Given the description of an element on the screen output the (x, y) to click on. 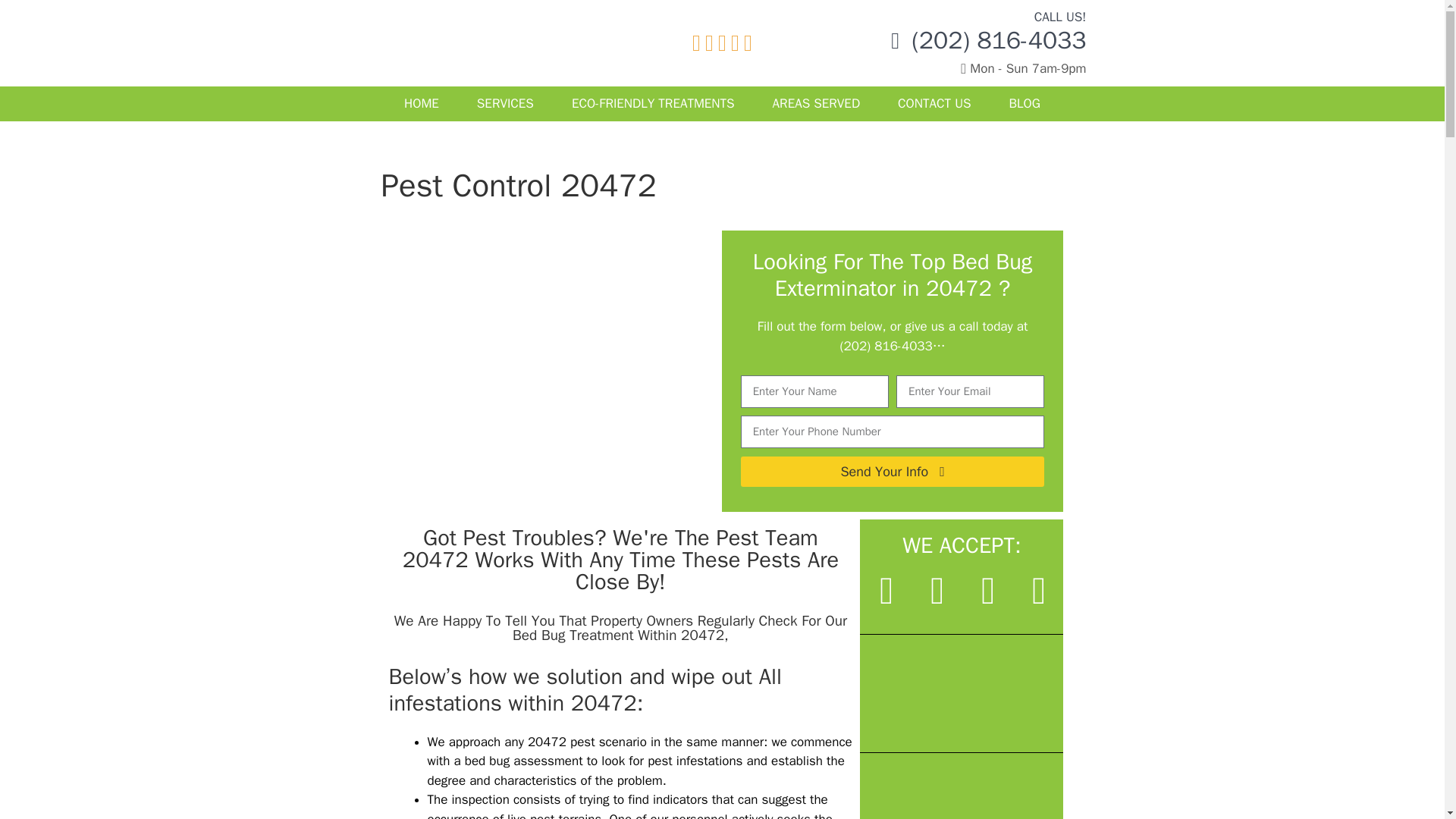
HOME (421, 103)
ECO-FRIENDLY TREATMENTS (653, 103)
SERVICES (505, 103)
AREAS SERVED (816, 103)
